Given the description of an element on the screen output the (x, y) to click on. 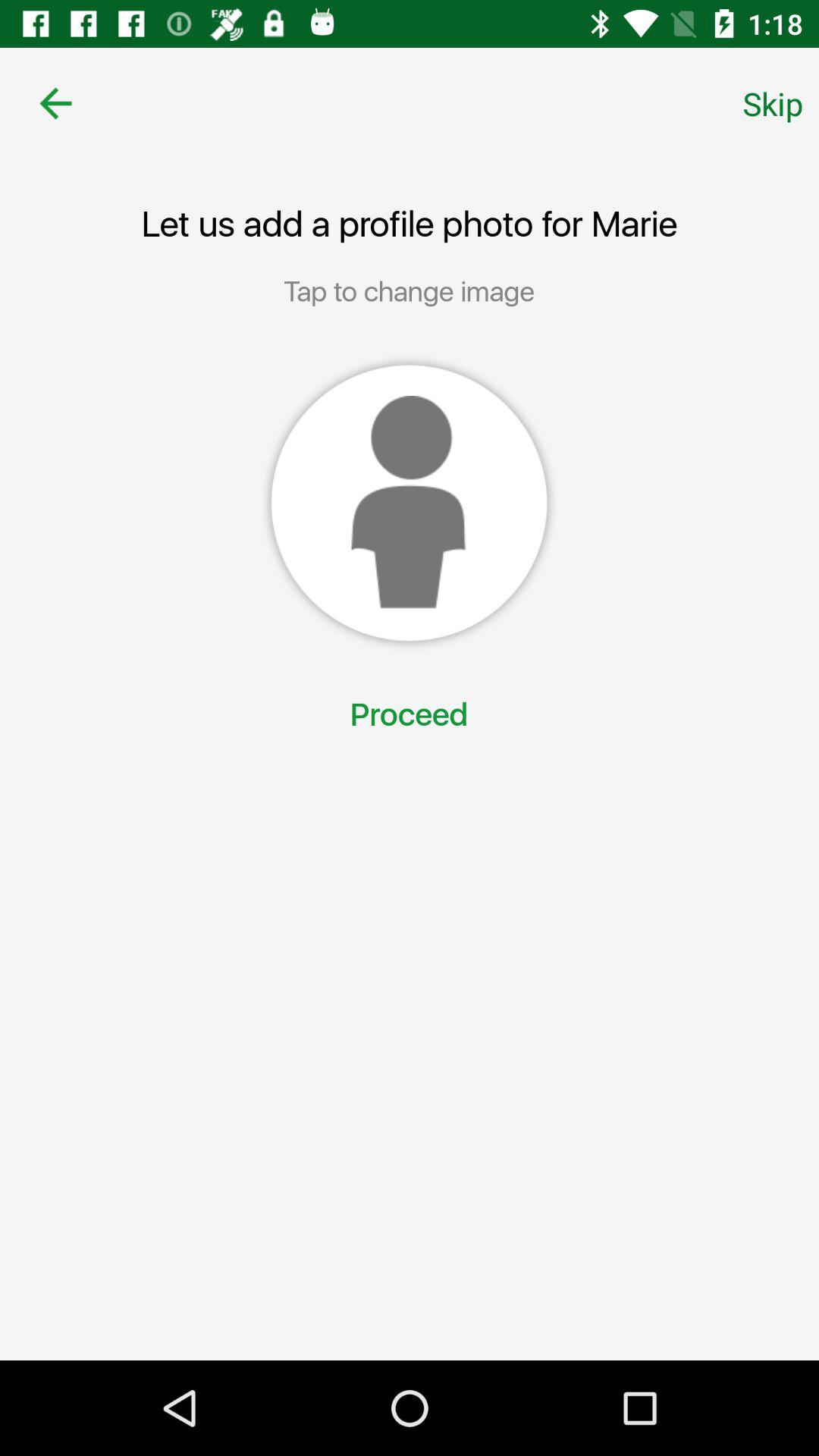
change profile image (408, 502)
